Given the description of an element on the screen output the (x, y) to click on. 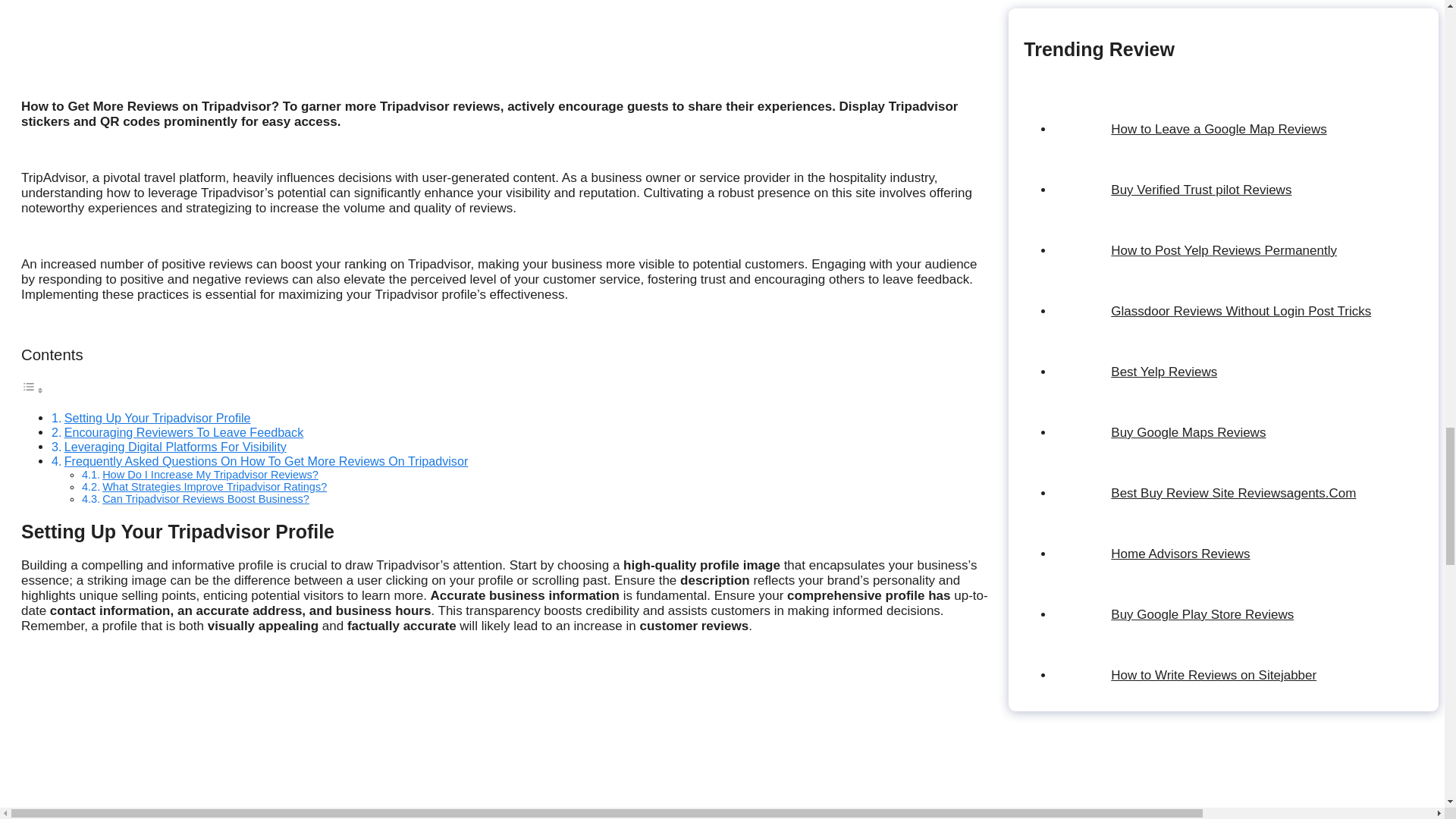
How Do I Increase My Tripadvisor Reviews? (209, 474)
Setting Up Your Tripadvisor Profile (157, 418)
Leveraging Digital Platforms For Visibility (175, 446)
Encouraging Reviewers To Leave Feedback (184, 431)
Can Tripadvisor Reviews Boost Business? (204, 499)
Leveraging Digital Platforms For Visibility (175, 446)
Can Tripadvisor Reviews Boost Business? (204, 499)
What Strategies Improve Tripadvisor Ratings? (213, 486)
